Given the description of an element on the screen output the (x, y) to click on. 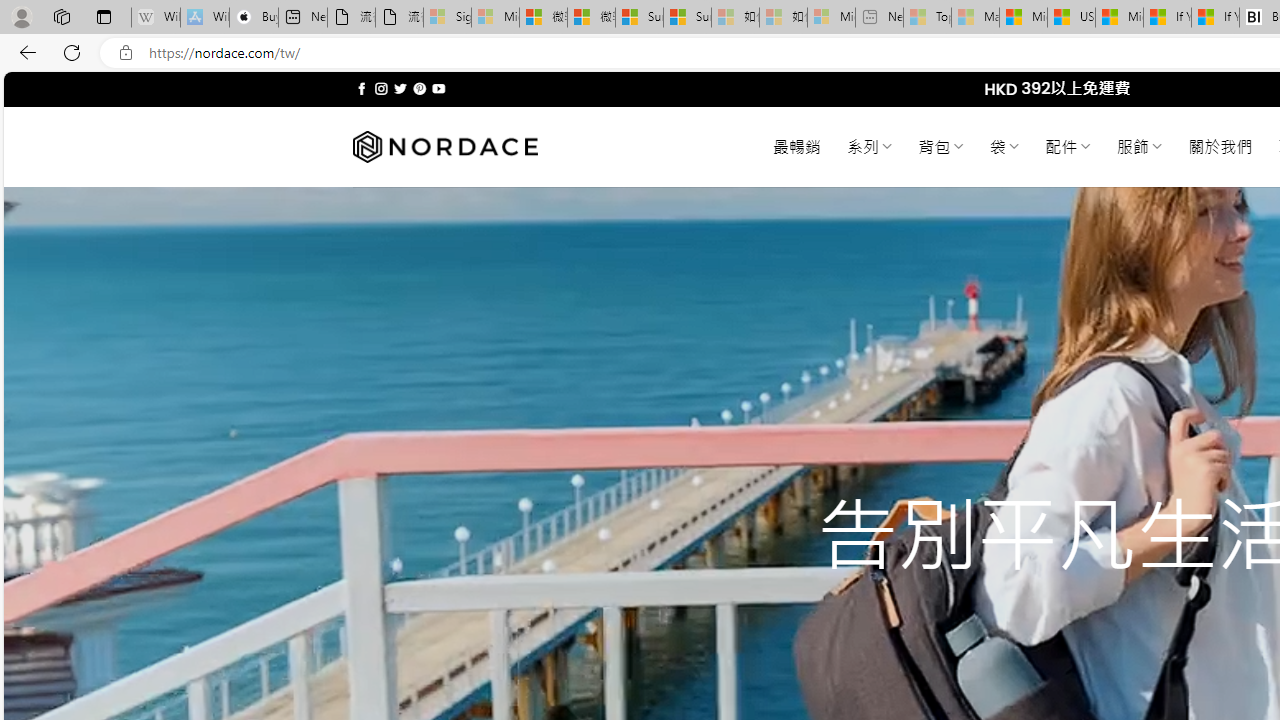
Back (24, 52)
Follow on YouTube (438, 88)
Workspaces (61, 16)
New tab - Sleeping (879, 17)
Refresh (72, 52)
Microsoft account | Account Checkup - Sleeping (831, 17)
Follow on Pinterest (419, 88)
Personal Profile (21, 16)
Marine life - MSN - Sleeping (975, 17)
